Given the description of an element on the screen output the (x, y) to click on. 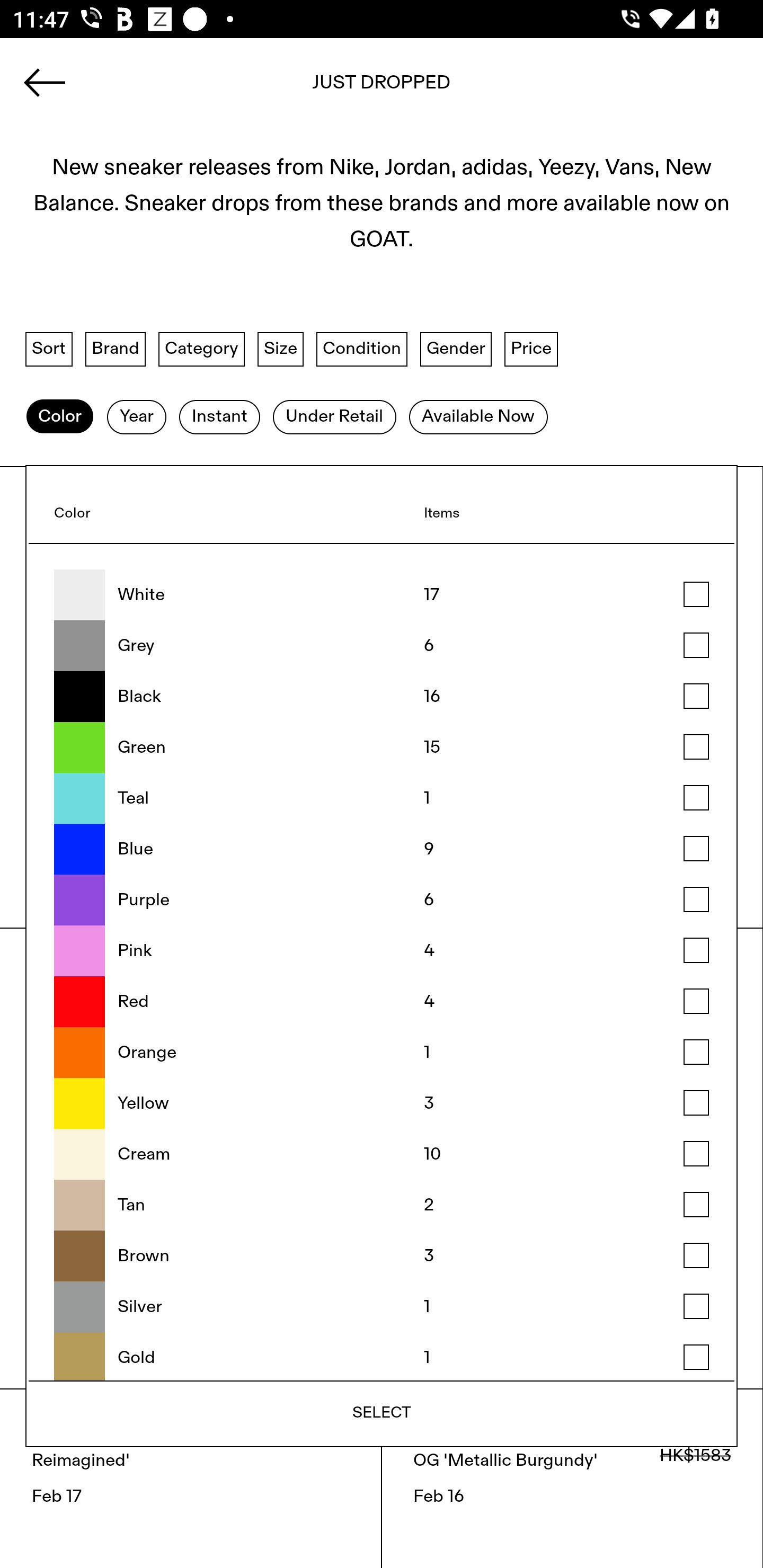
soccer shoes (381, 88)
Sort (48, 348)
Brand (115, 348)
Category (201, 348)
Size (280, 348)
Condition (361, 348)
Gender (455, 348)
Price (530, 348)
Color (59, 416)
Year (136, 416)
Instant (219, 416)
Under Retail (334, 416)
Available Now (477, 416)
White 17 (381, 594)
Grey 6 (381, 645)
Black 16 (381, 696)
Green 15 (381, 747)
Teal 1 (381, 798)
Blue 9 (381, 848)
Purple 6 (381, 899)
Pink 4 (381, 950)
Red 4 (381, 1001)
Orange 1 (381, 1052)
Yellow 3 (381, 1103)
Cream 10 (381, 1153)
Tan 2 (381, 1204)
Brown 3 (381, 1255)
Silver 1 (381, 1306)
Gold 1 (381, 1355)
SELECT (381, 1412)
